Given the description of an element on the screen output the (x, y) to click on. 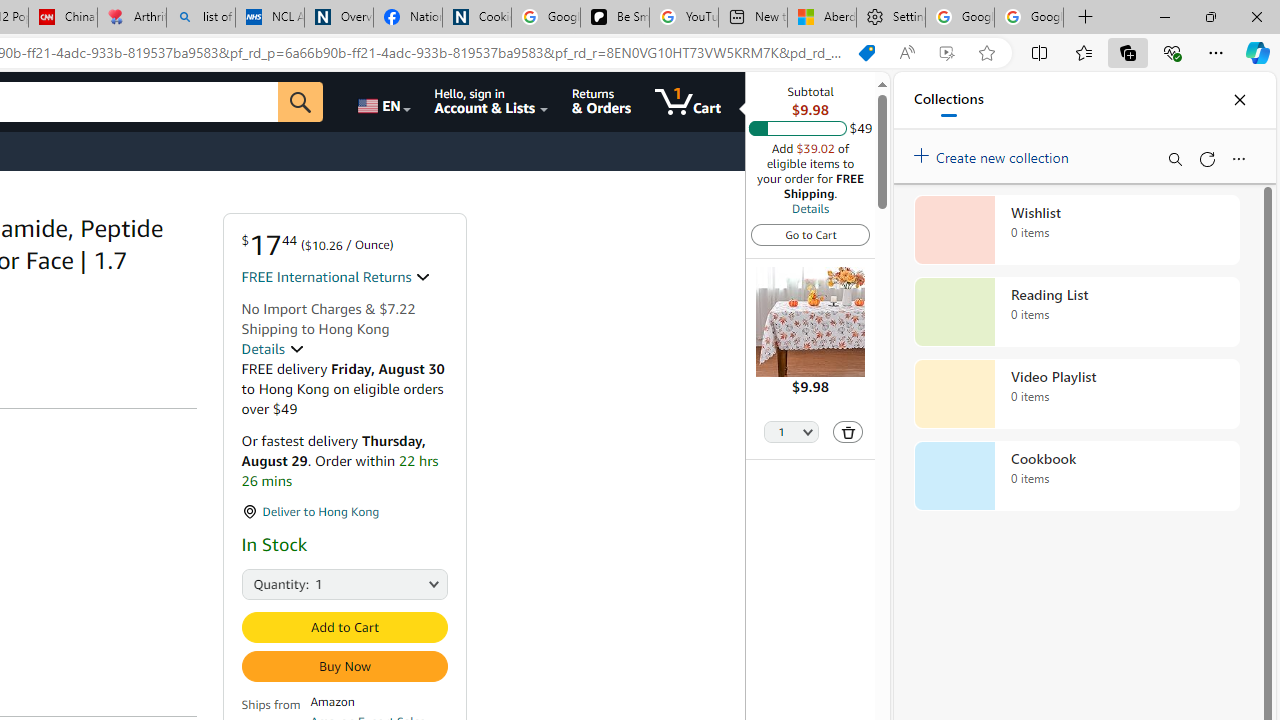
Returns & Orders (601, 101)
Buy Now (343, 666)
Add to Cart (343, 627)
Go to Cart (810, 234)
